Given the description of an element on the screen output the (x, y) to click on. 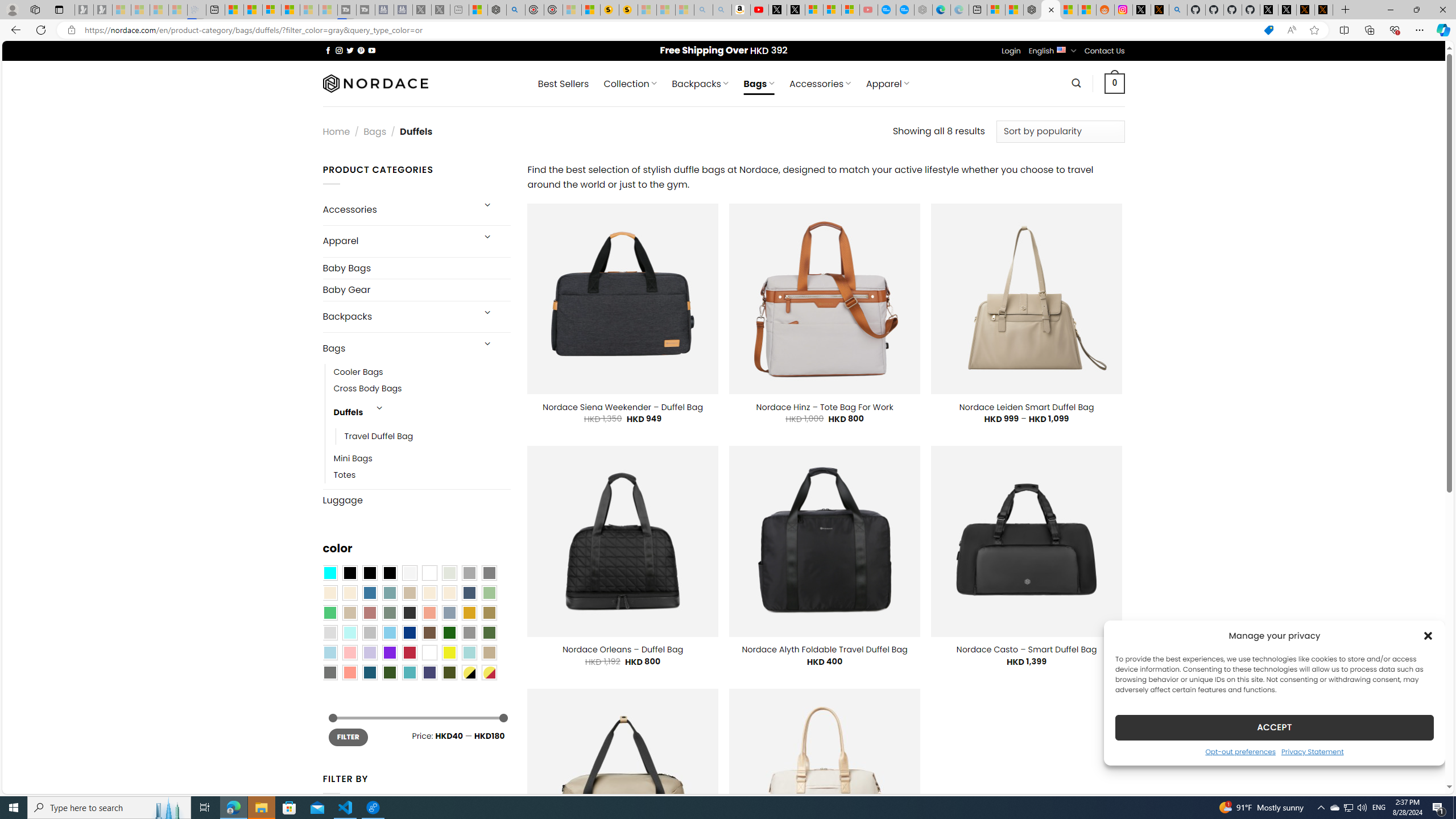
Capri Blue (369, 672)
Travel Duffel Bag (427, 436)
English (1061, 49)
Microsoft Start - Sleeping (309, 9)
ACCEPT (1274, 727)
